Given the description of an element on the screen output the (x, y) to click on. 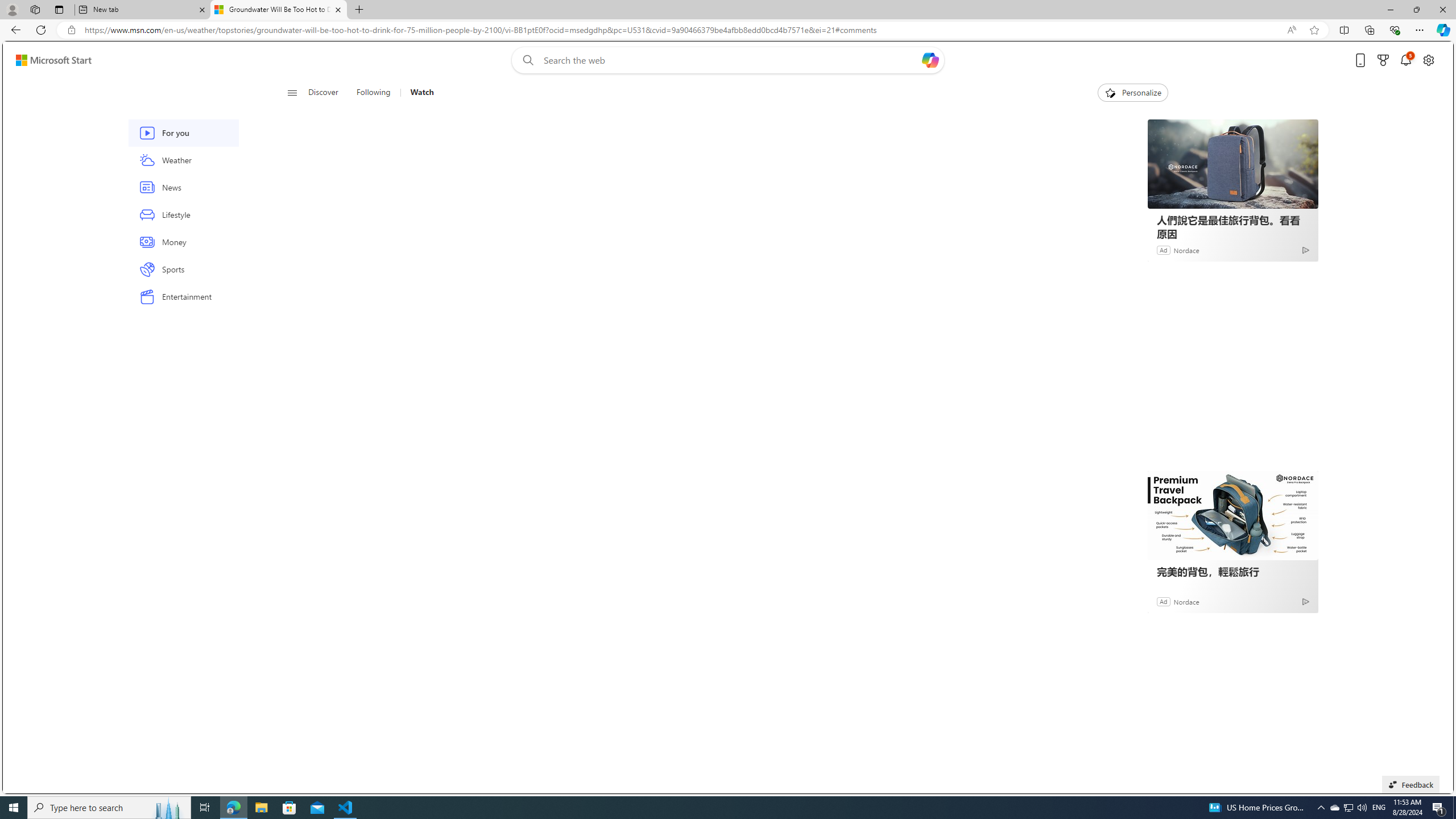
To get missing image descriptions, open the context menu. (1109, 92)
Web search (526, 60)
Open navigation menu (292, 92)
